Given the description of an element on the screen output the (x, y) to click on. 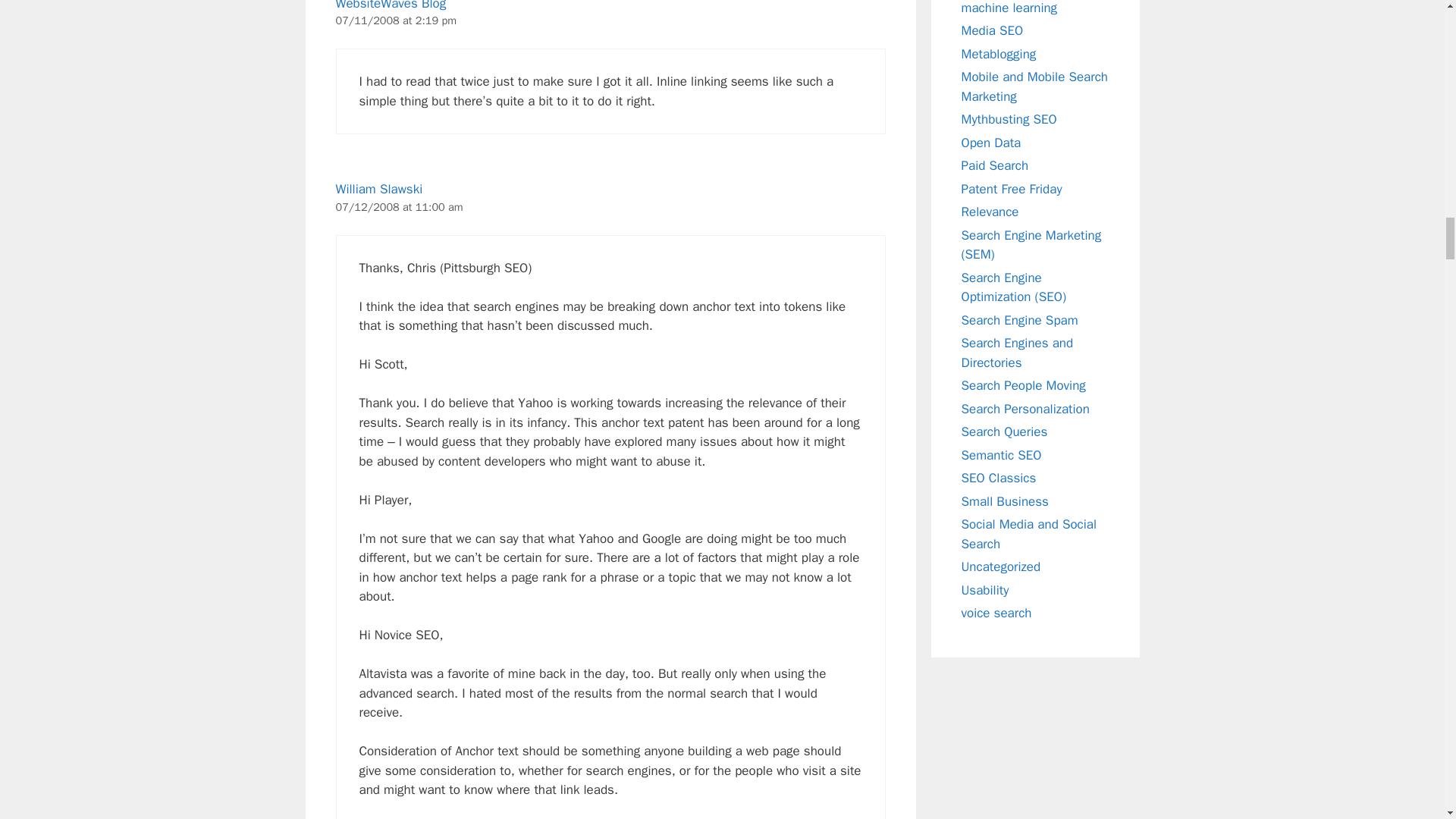
WebsiteWaves Blog (389, 5)
